Given the description of an element on the screen output the (x, y) to click on. 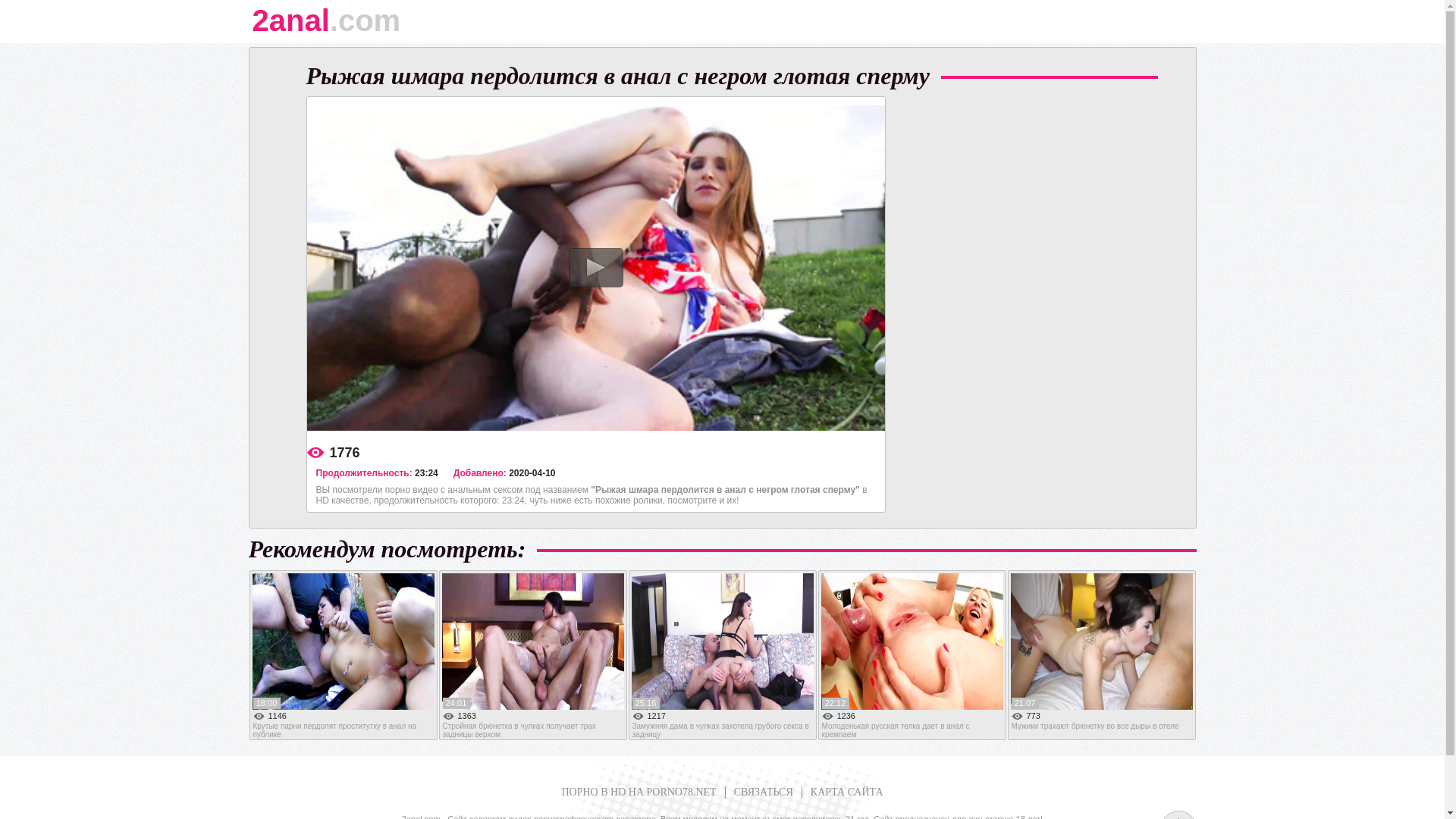
2anal.com Element type: text (715, 35)
